Given the description of an element on the screen output the (x, y) to click on. 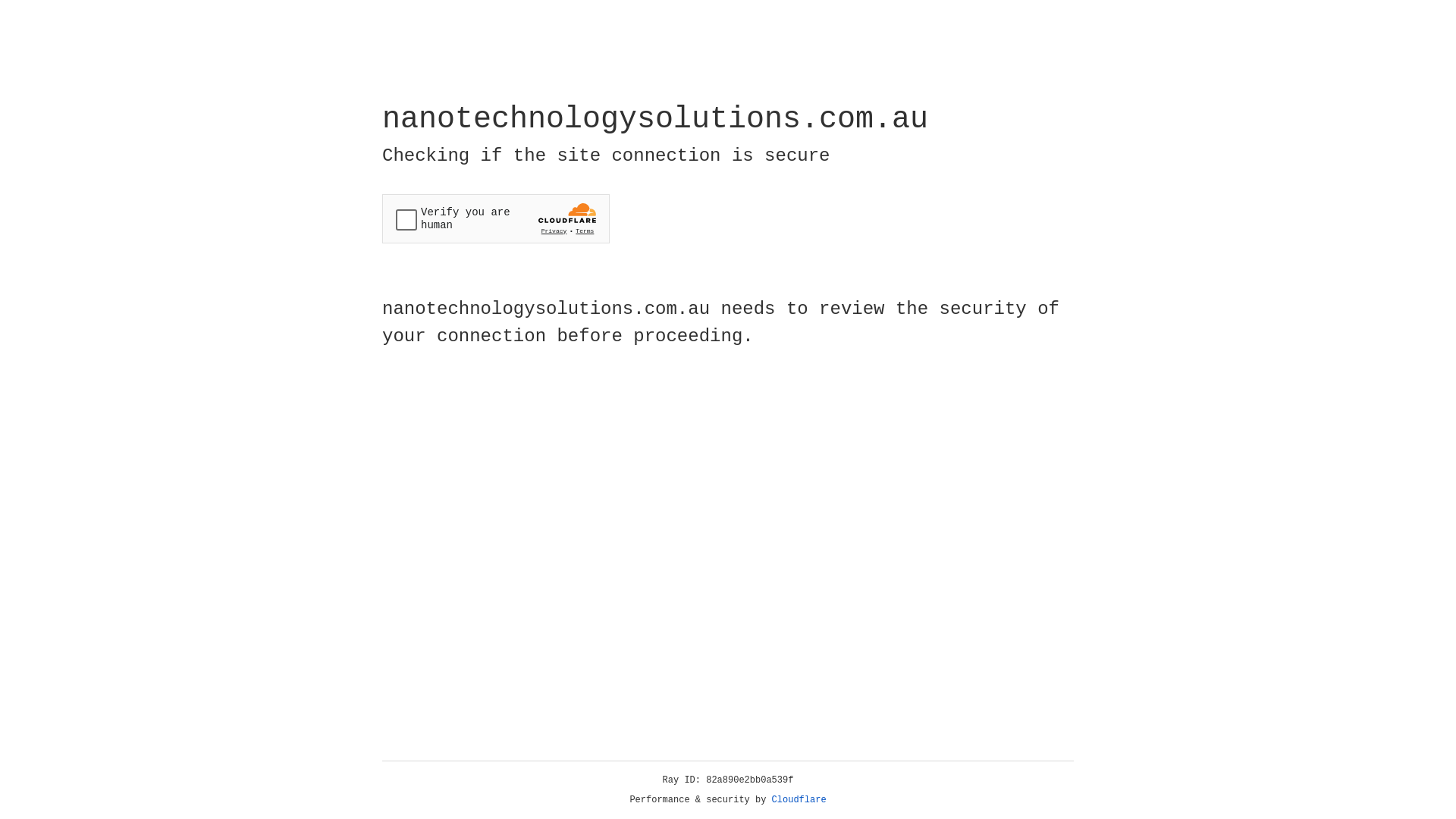
Cloudflare Element type: text (798, 799)
Widget containing a Cloudflare security challenge Element type: hover (495, 218)
